Given the description of an element on the screen output the (x, y) to click on. 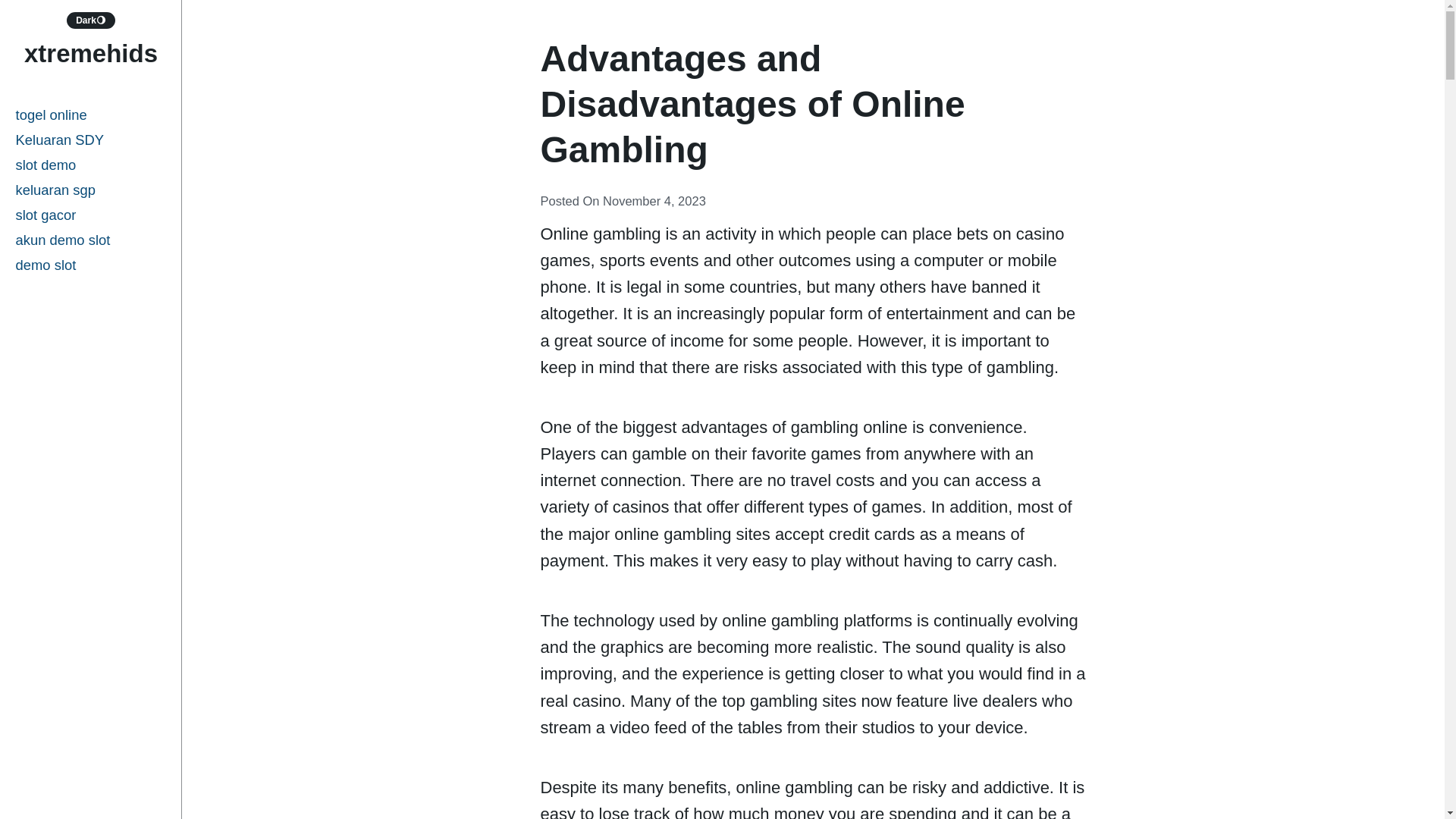
keluaran sgp (90, 189)
Keluaran SDY (90, 139)
slot gacor (90, 214)
demo slot (90, 265)
akun demo slot (90, 239)
togel online (90, 114)
xtremehids (90, 53)
slot demo (90, 164)
